Given the description of an element on the screen output the (x, y) to click on. 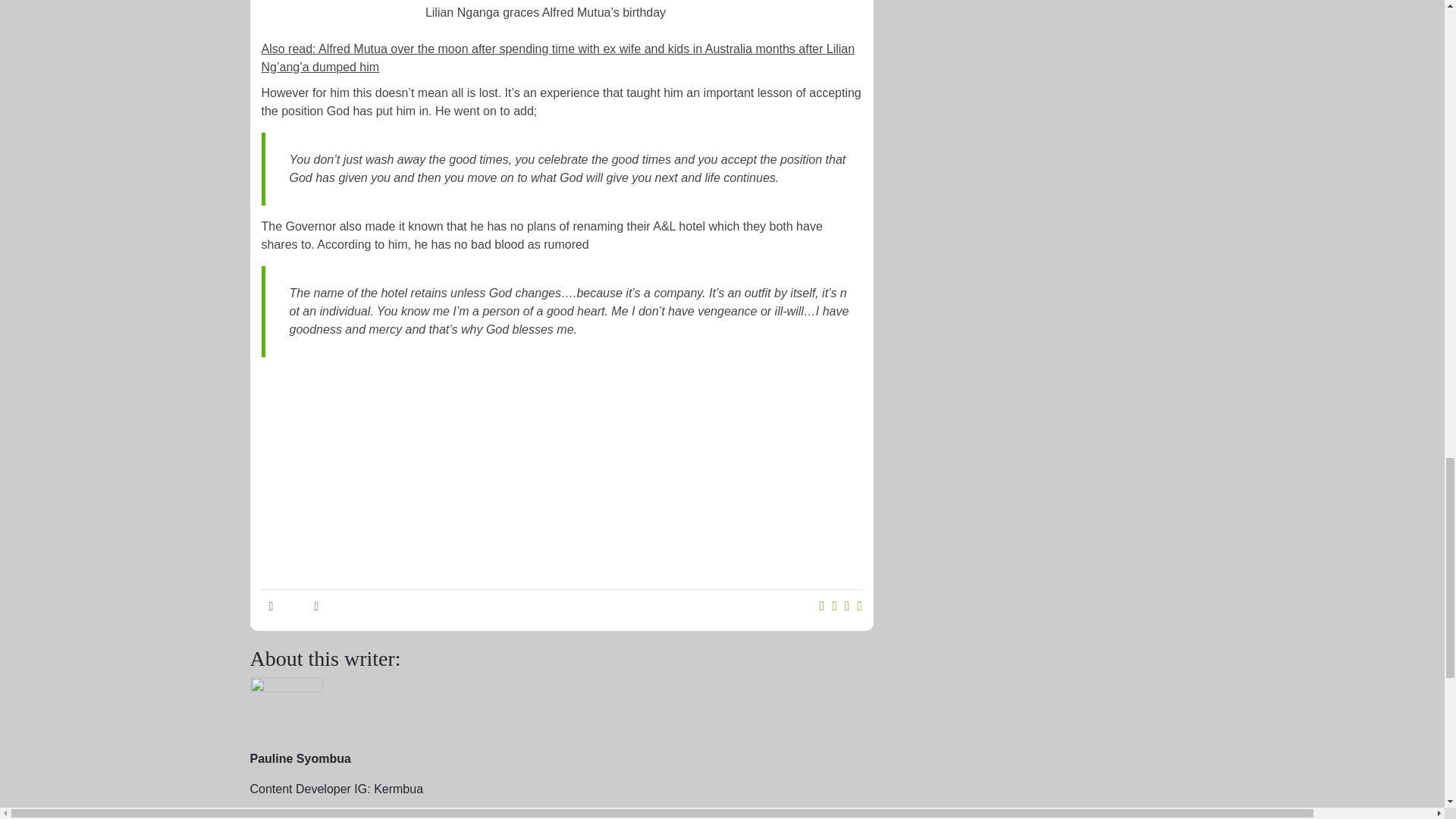
Share by Email (860, 606)
